Given the description of an element on the screen output the (x, y) to click on. 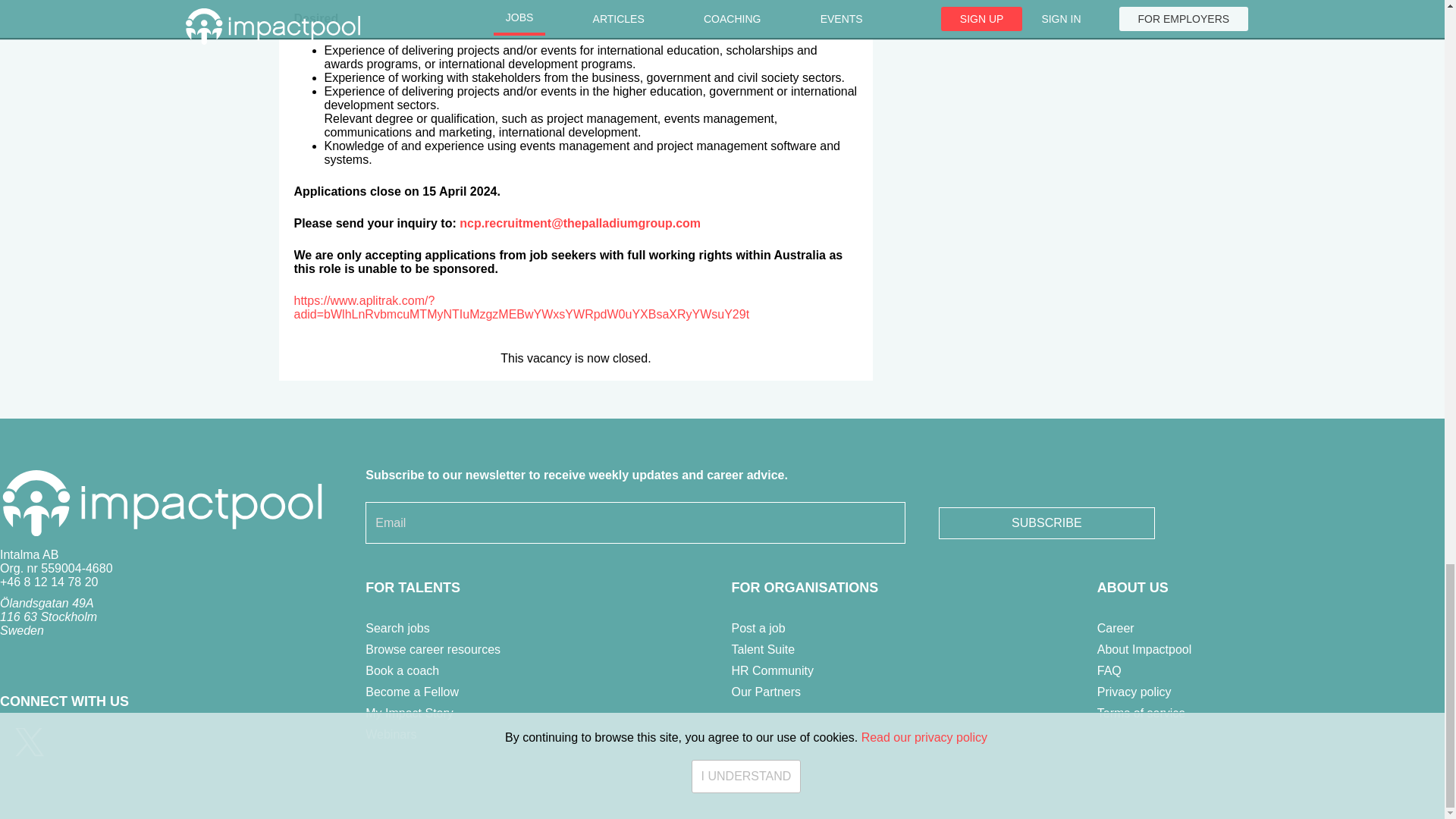
Subscribe (1046, 522)
Browse career resources (432, 649)
Webinars (390, 734)
Book a coach (402, 670)
Terms of service (1141, 712)
My Impact Story (408, 712)
Search jobs (397, 627)
FAQ (1109, 670)
Become a Fellow (411, 691)
About Impactpool (1144, 649)
Privacy policy (1134, 691)
Career (1115, 627)
Subscribe (1046, 522)
